Given the description of an element on the screen output the (x, y) to click on. 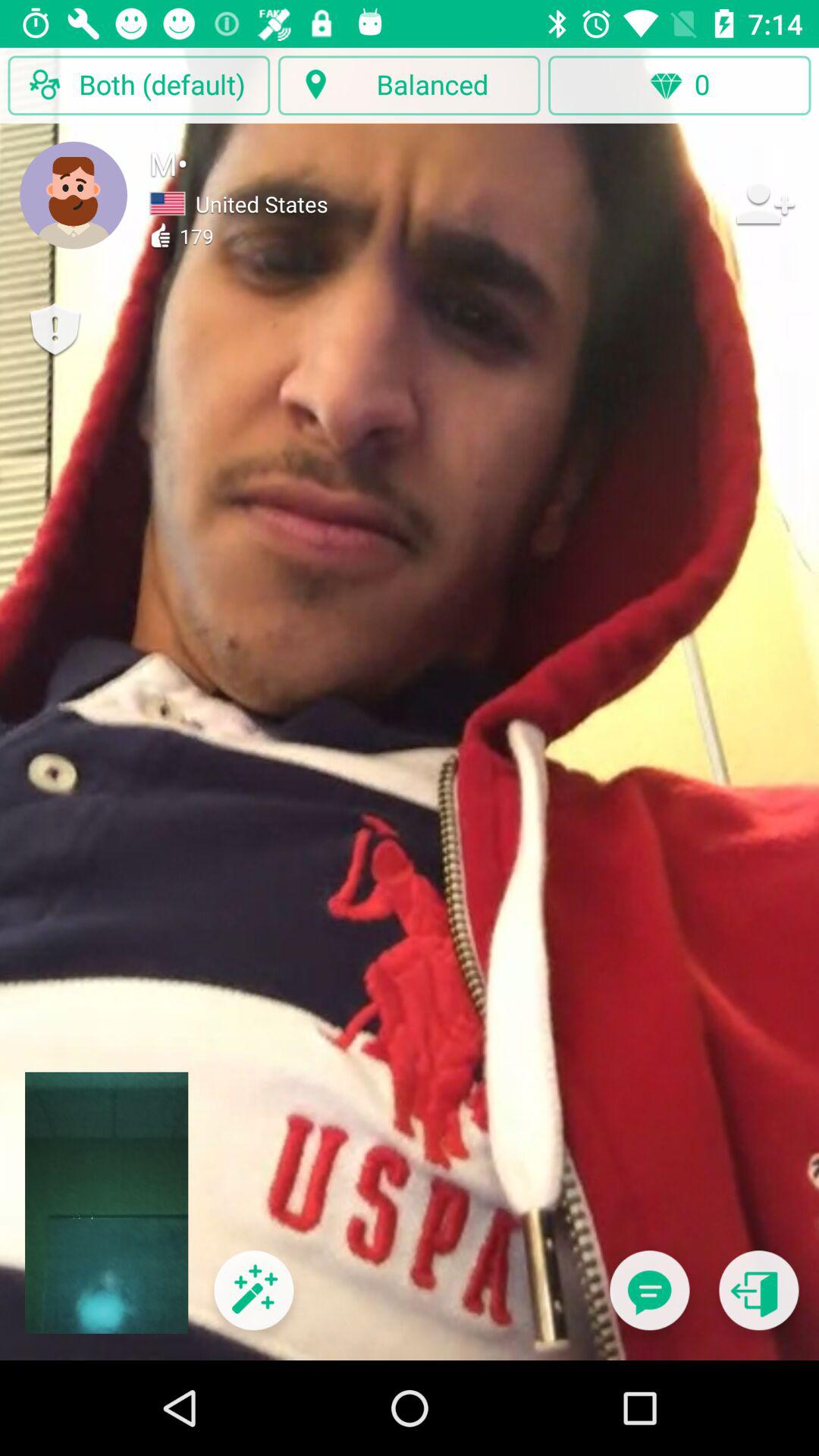
exit button (758, 1300)
